Given the description of an element on the screen output the (x, y) to click on. 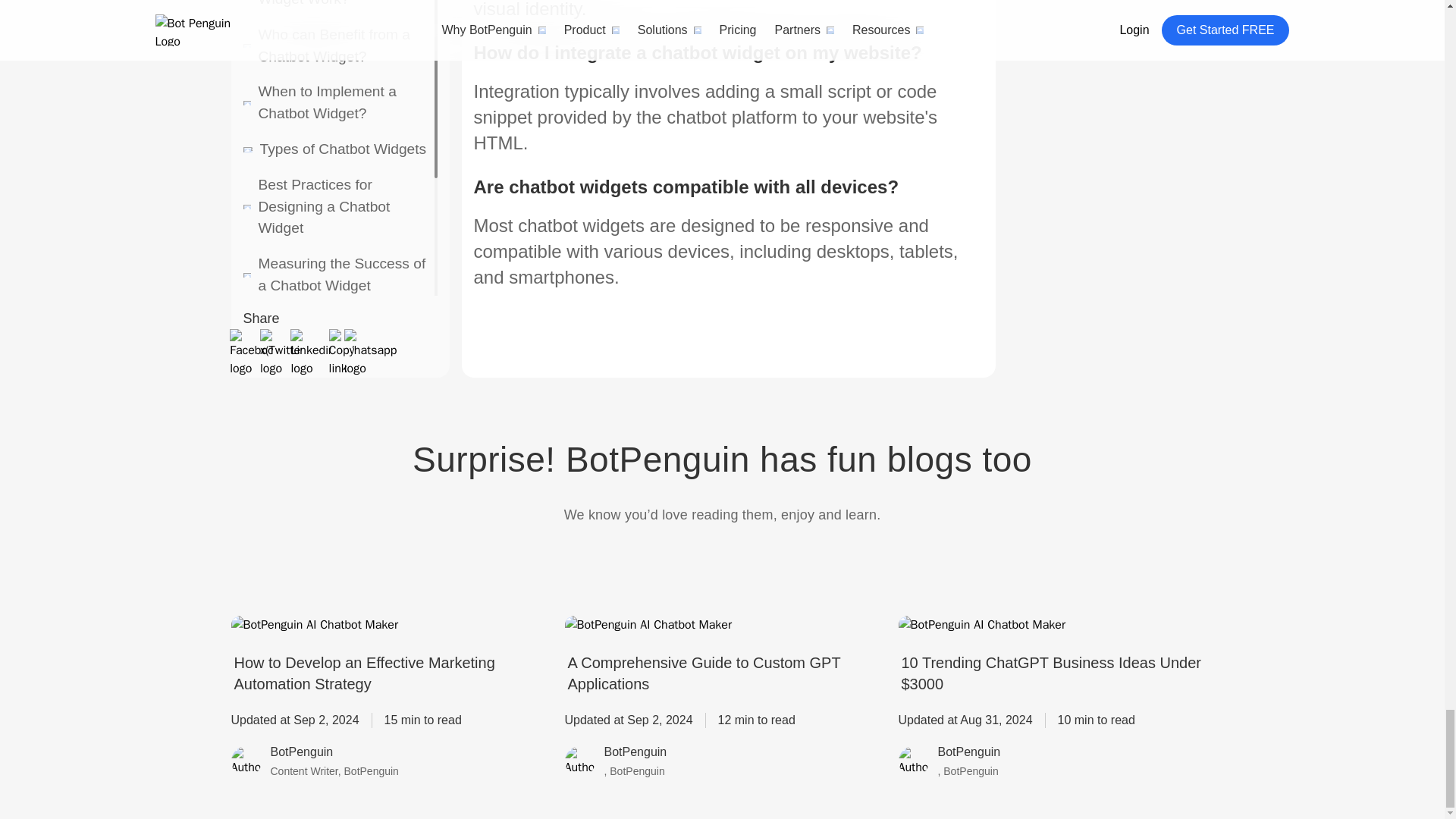
BotPenguin (968, 753)
BotPenguin (635, 753)
BotPenguin (333, 753)
How to Develop an Effective Marketing Automation Strategy (388, 672)
A Comprehensive Guide to Custom GPT Applications (721, 672)
